Given the description of an element on the screen output the (x, y) to click on. 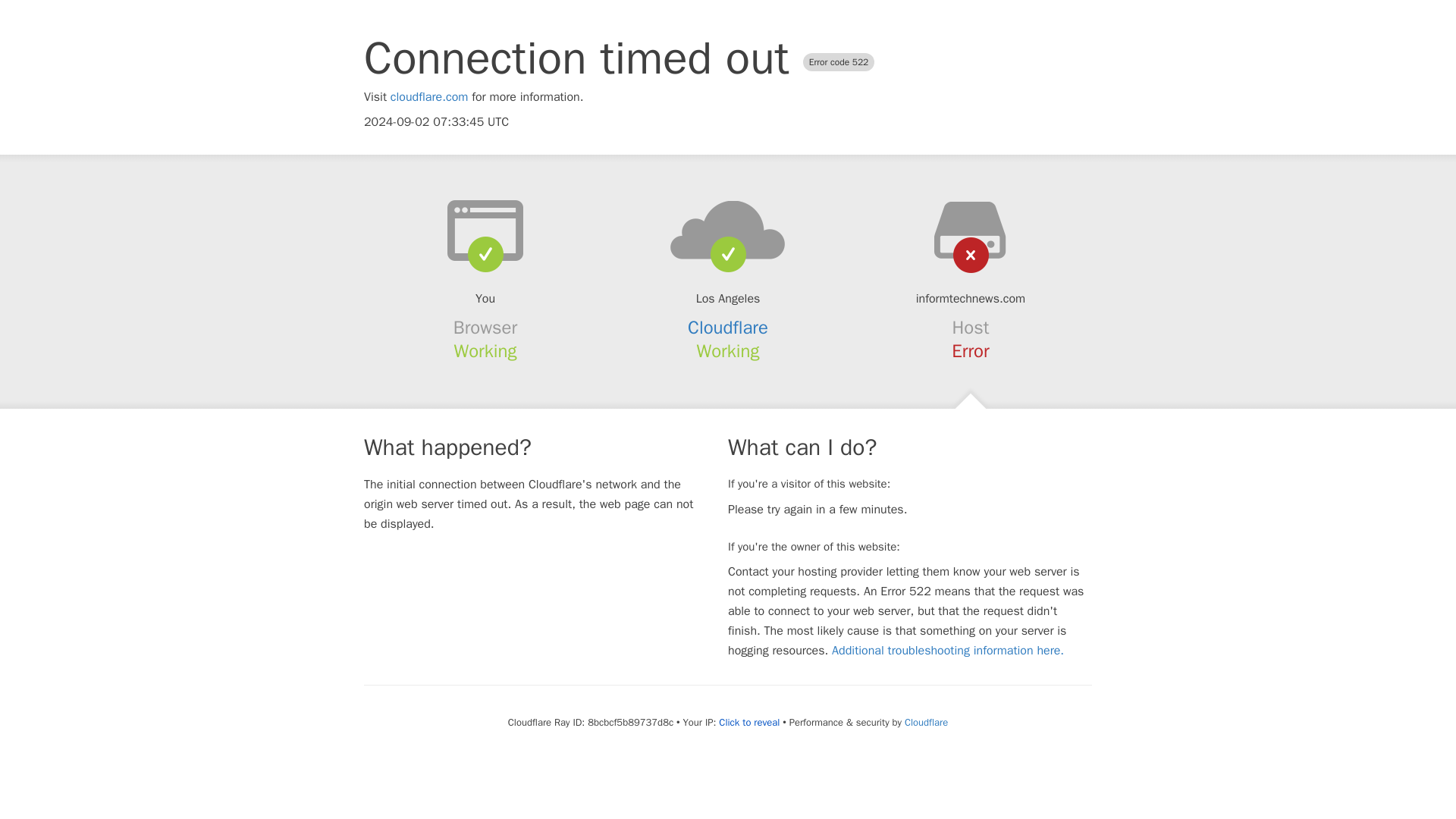
Additional troubleshooting information here. (947, 650)
Cloudflare (727, 327)
Cloudflare (925, 721)
cloudflare.com (429, 96)
Click to reveal (748, 722)
